Given the description of an element on the screen output the (x, y) to click on. 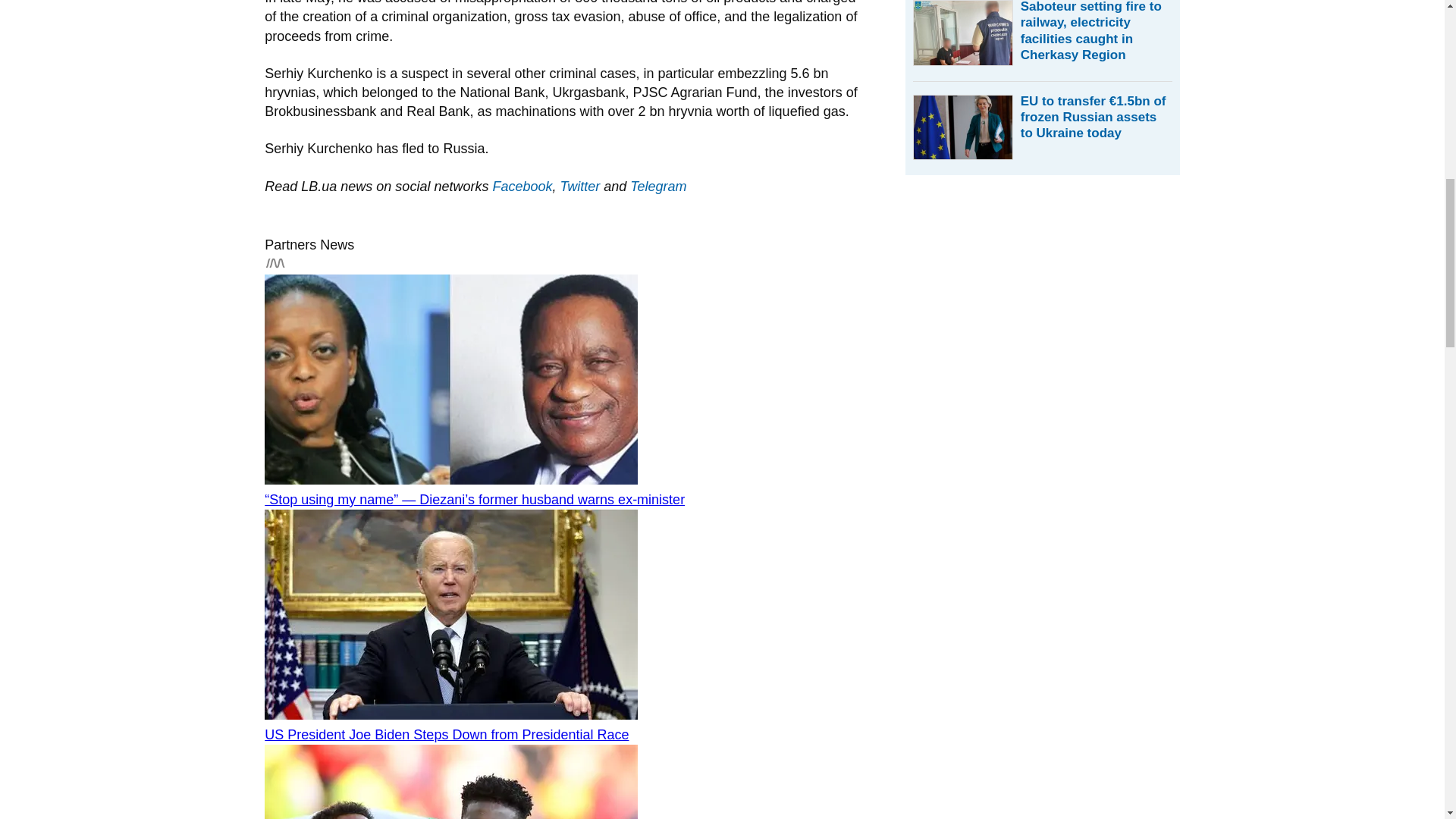
Twitter (579, 186)
Telegram (657, 186)
Facebook (521, 186)
